Given the description of an element on the screen output the (x, y) to click on. 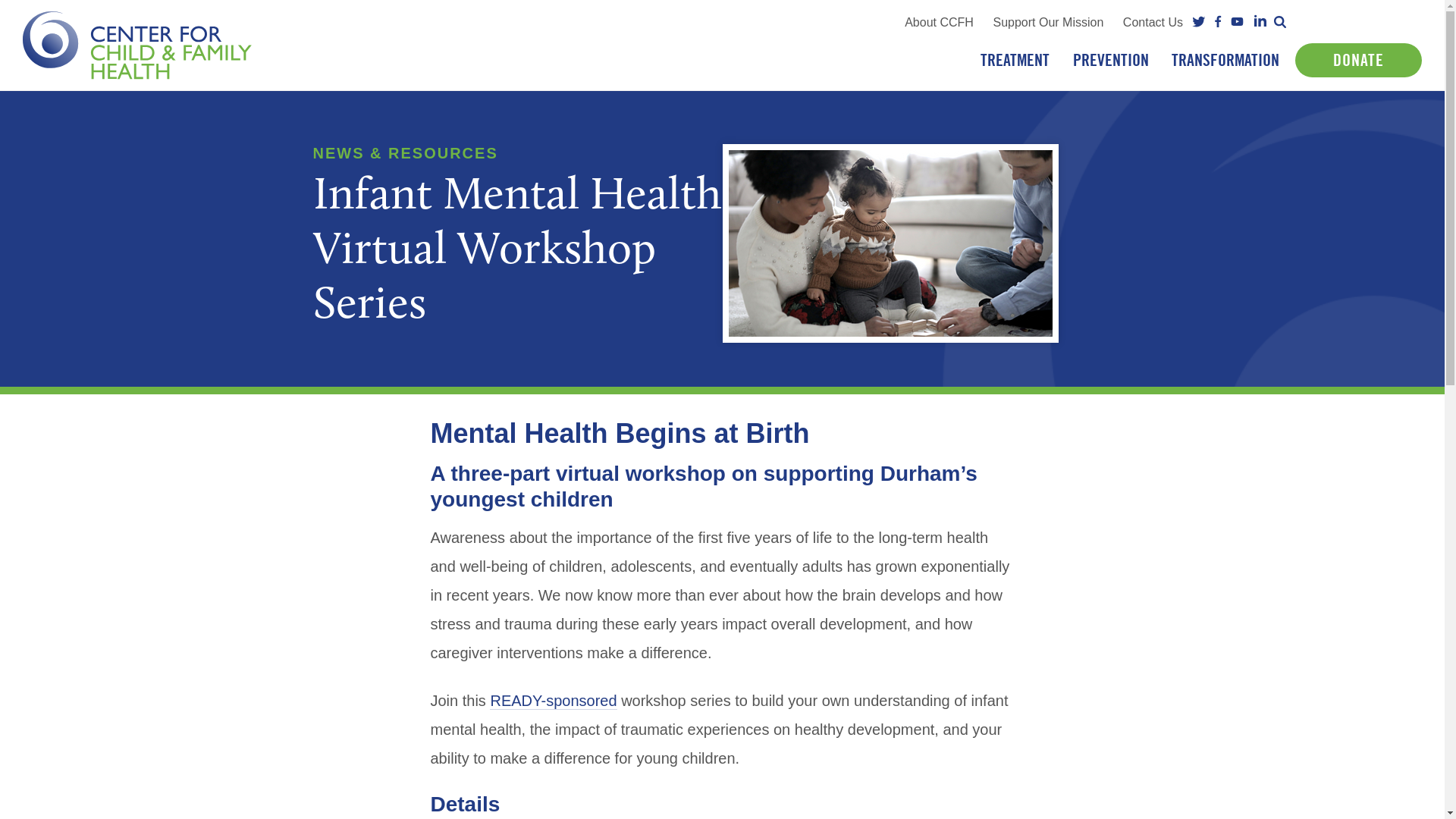
Support Our Mission (1047, 21)
DONATE (1358, 59)
About CCFH (939, 21)
TREATMENT (1014, 60)
PREVENTION (1110, 60)
TRANSFORMATION (1225, 60)
Contact Us (1152, 21)
